Given the description of an element on the screen output the (x, y) to click on. 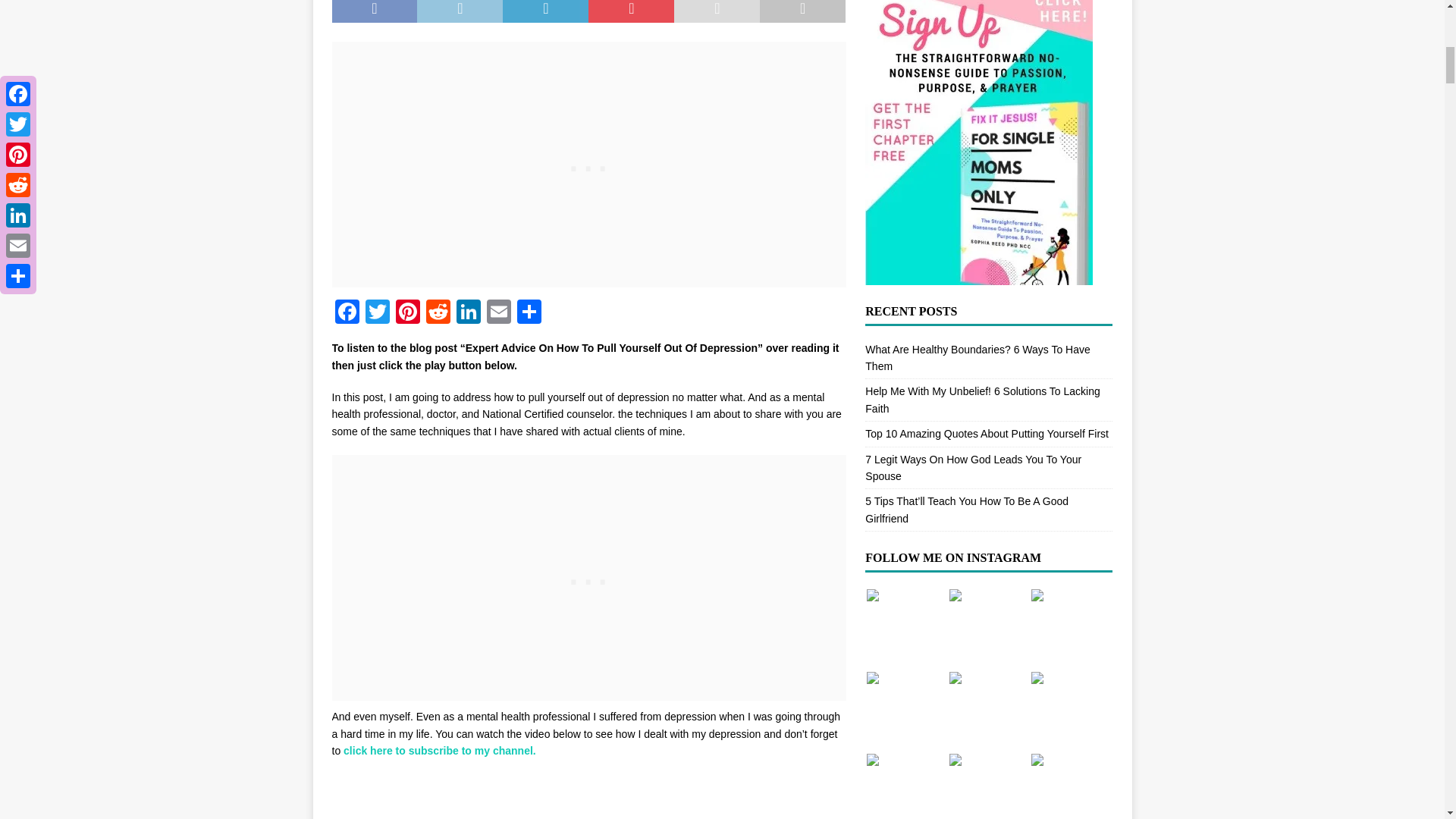
Email (498, 313)
Twitter (377, 313)
LinkedIn (467, 313)
Pinterest (408, 313)
Facebook (346, 313)
Reddit (437, 313)
